Given the description of an element on the screen output the (x, y) to click on. 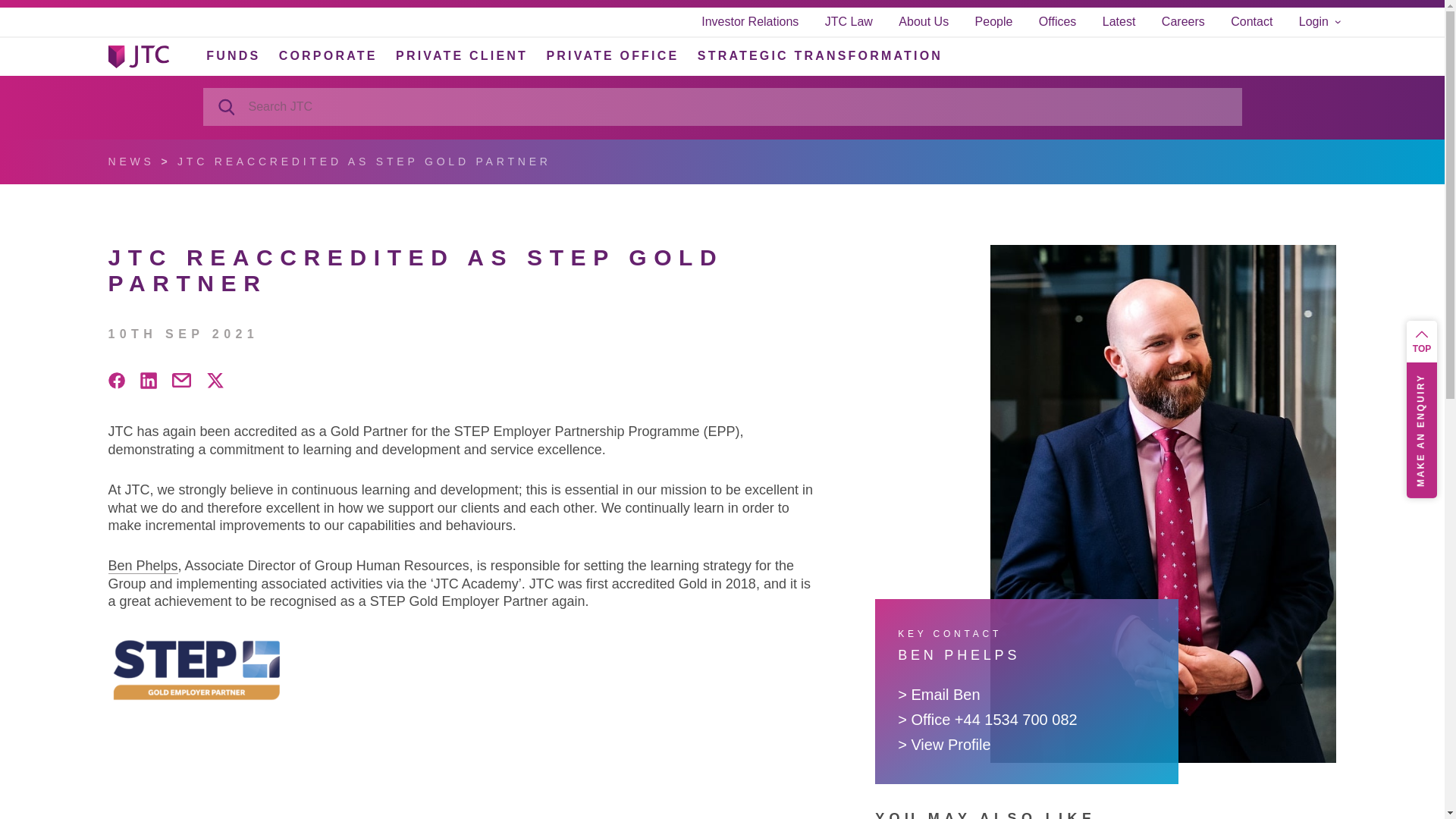
STRATEGIC TRANSFORMATION (819, 55)
About Us (923, 21)
Contact (1251, 21)
FUNDS (233, 55)
JTC Law (848, 21)
PRIVATE CLIENT (461, 55)
Share via email (180, 382)
Share on facebook (115, 384)
Return to the homepage (137, 56)
Latest (1118, 21)
